Given the description of an element on the screen output the (x, y) to click on. 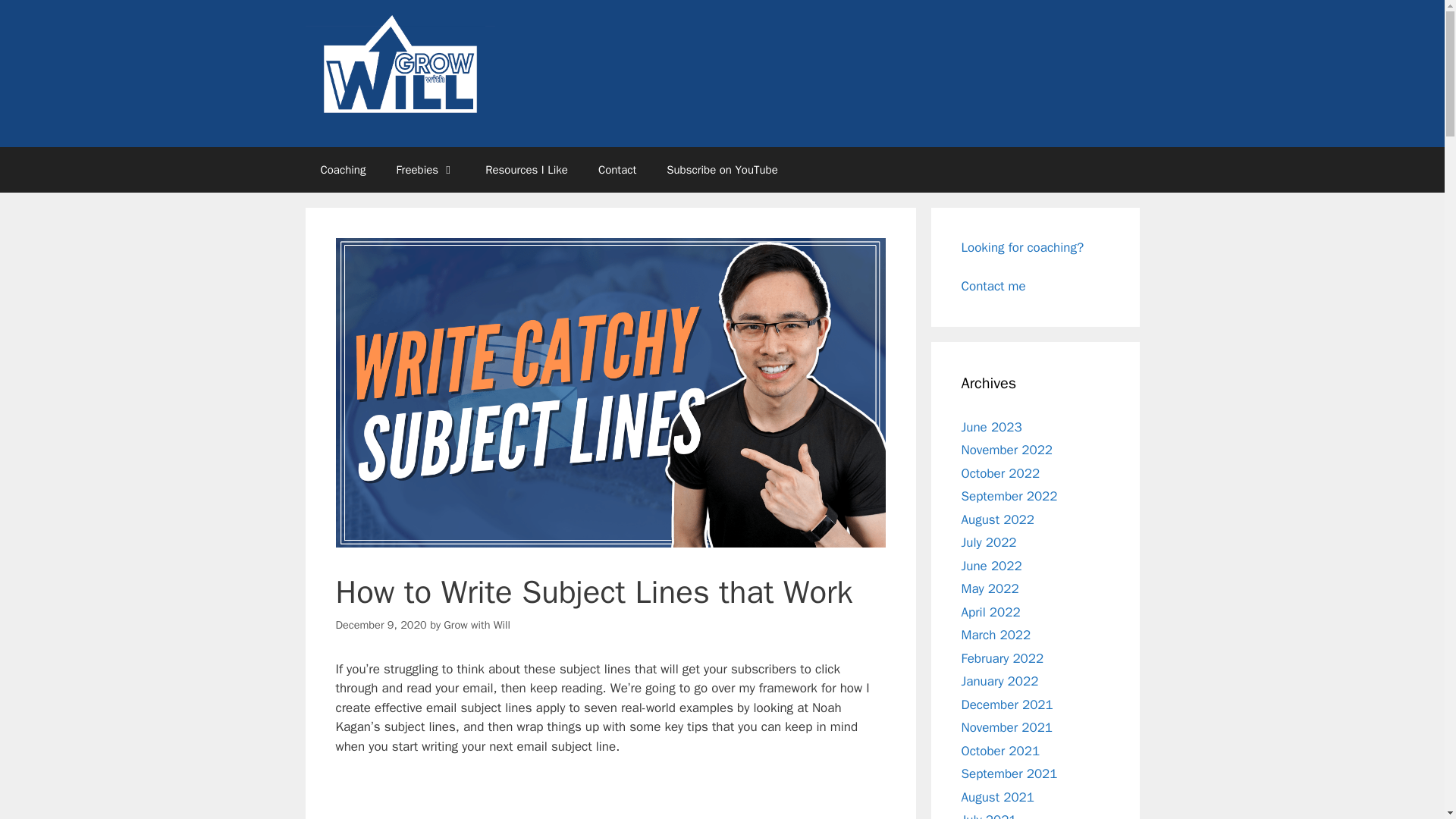
June 2022 (991, 565)
November 2022 (1006, 449)
October 2022 (1000, 473)
Contact me (993, 286)
Resources I Like (526, 169)
August 2022 (996, 519)
Subscribe on YouTube (721, 169)
Looking for coaching? (1022, 247)
Contact (616, 169)
May 2022 (989, 588)
April 2022 (990, 611)
View all posts by Grow with Will (477, 624)
March 2022 (995, 634)
Freebies (425, 169)
Grow with Will (477, 624)
